Given the description of an element on the screen output the (x, y) to click on. 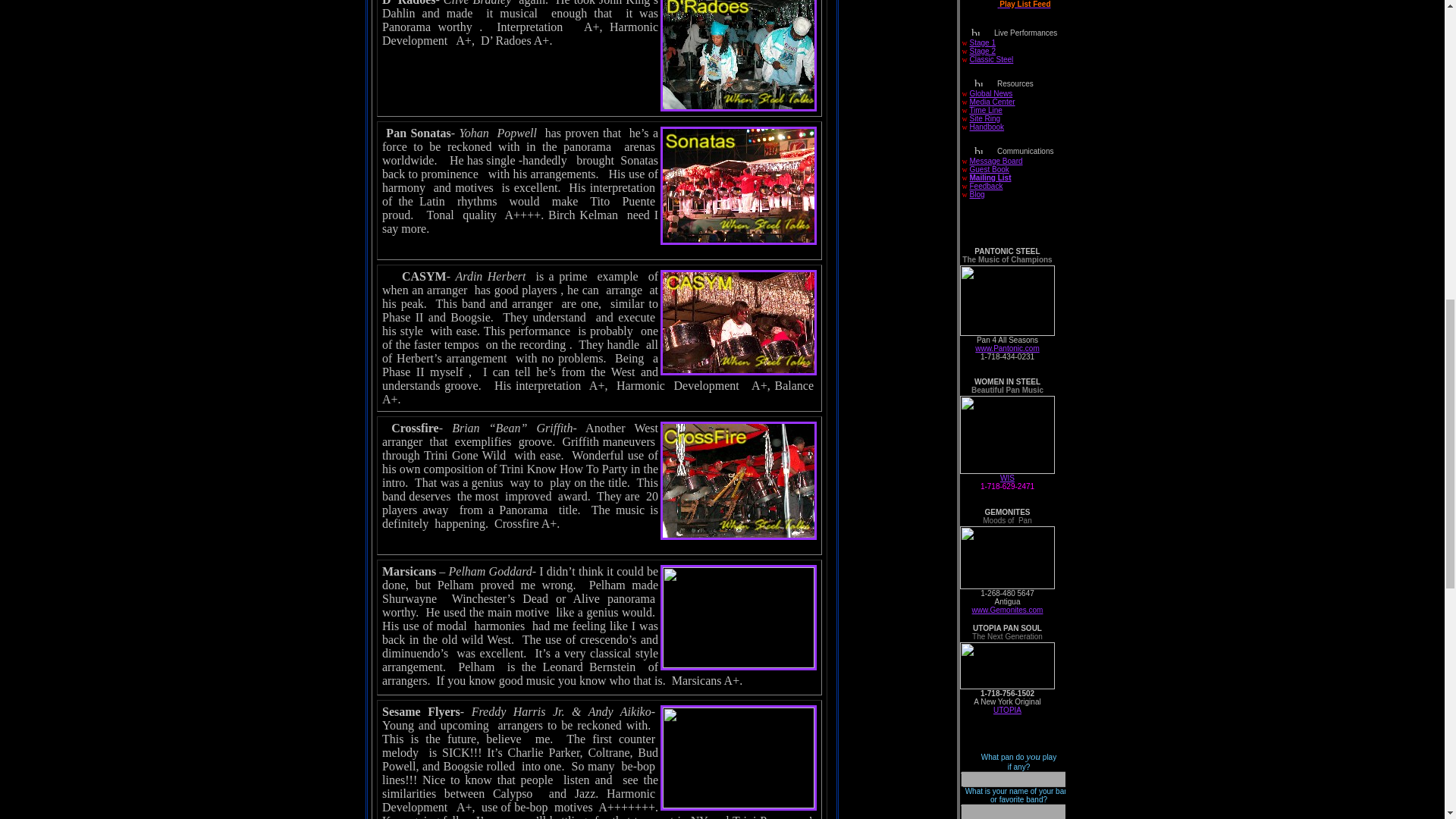
Stage 1 (982, 41)
Play List Feed (1011, 4)
Preview Feed or Change Reader (1011, 4)
Classic Steel (991, 58)
Global News (991, 93)
Stage 2 (982, 50)
